Given the description of an element on the screen output the (x, y) to click on. 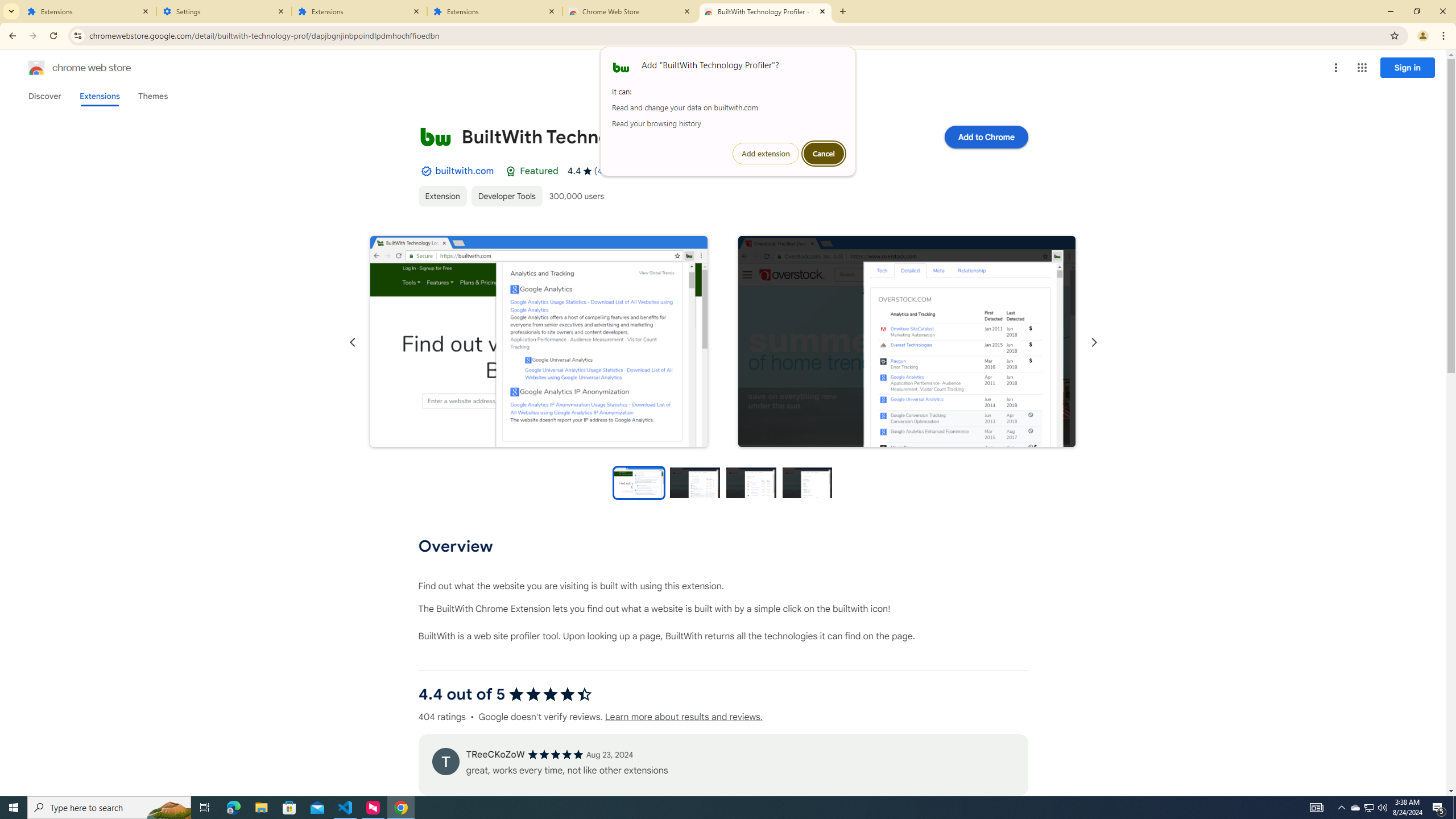
Task View (204, 807)
Chrome Web Store logo chrome web store (67, 67)
Review's profile picture (445, 760)
File Explorer (261, 807)
Microsoft Edge (233, 807)
Learn more about results and reviews. (683, 716)
Preview slide 2 (694, 482)
BuiltWith Technology Profiler - Chrome Web Store (765, 11)
5 out of 5 stars (555, 753)
Extensions (99, 95)
